Given the description of an element on the screen output the (x, y) to click on. 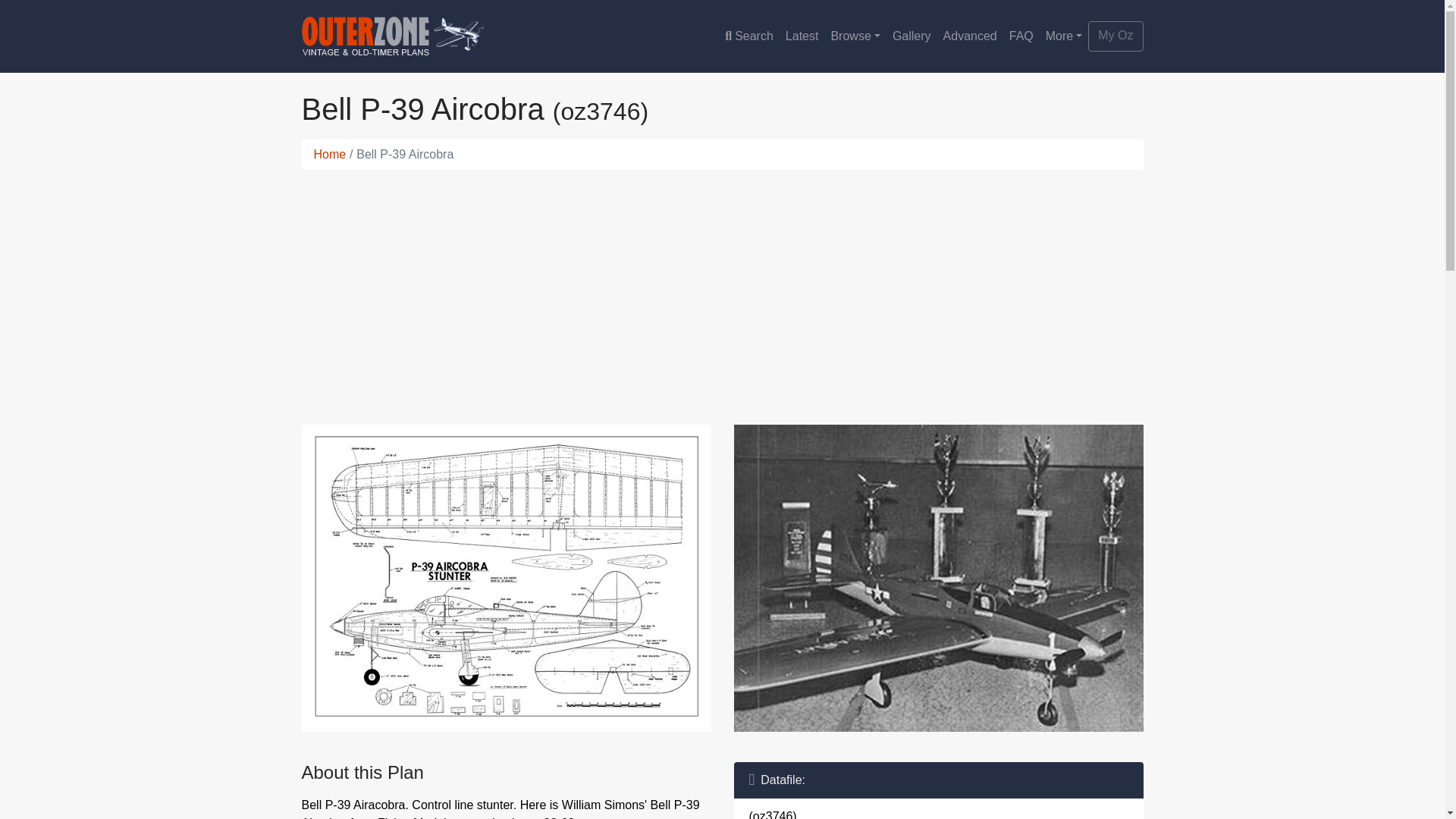
More (1064, 36)
FAQ (1021, 36)
Browse (854, 36)
Advanced (970, 36)
Home (330, 154)
Latest (801, 36)
Search (748, 36)
My Oz (1114, 36)
Gallery (911, 36)
